Given the description of an element on the screen output the (x, y) to click on. 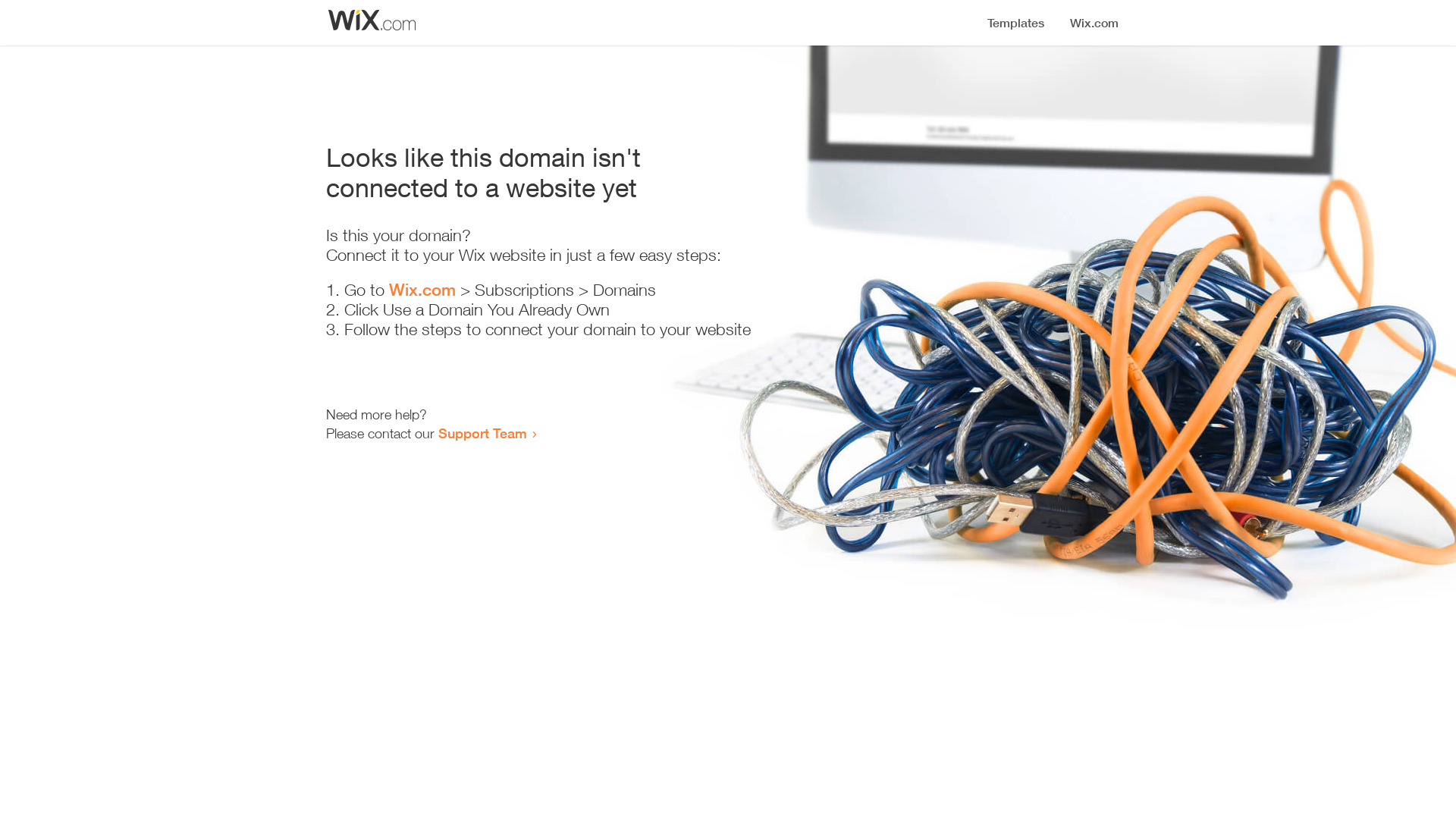
Wix.com Element type: text (422, 289)
Support Team Element type: text (482, 432)
